Given the description of an element on the screen output the (x, y) to click on. 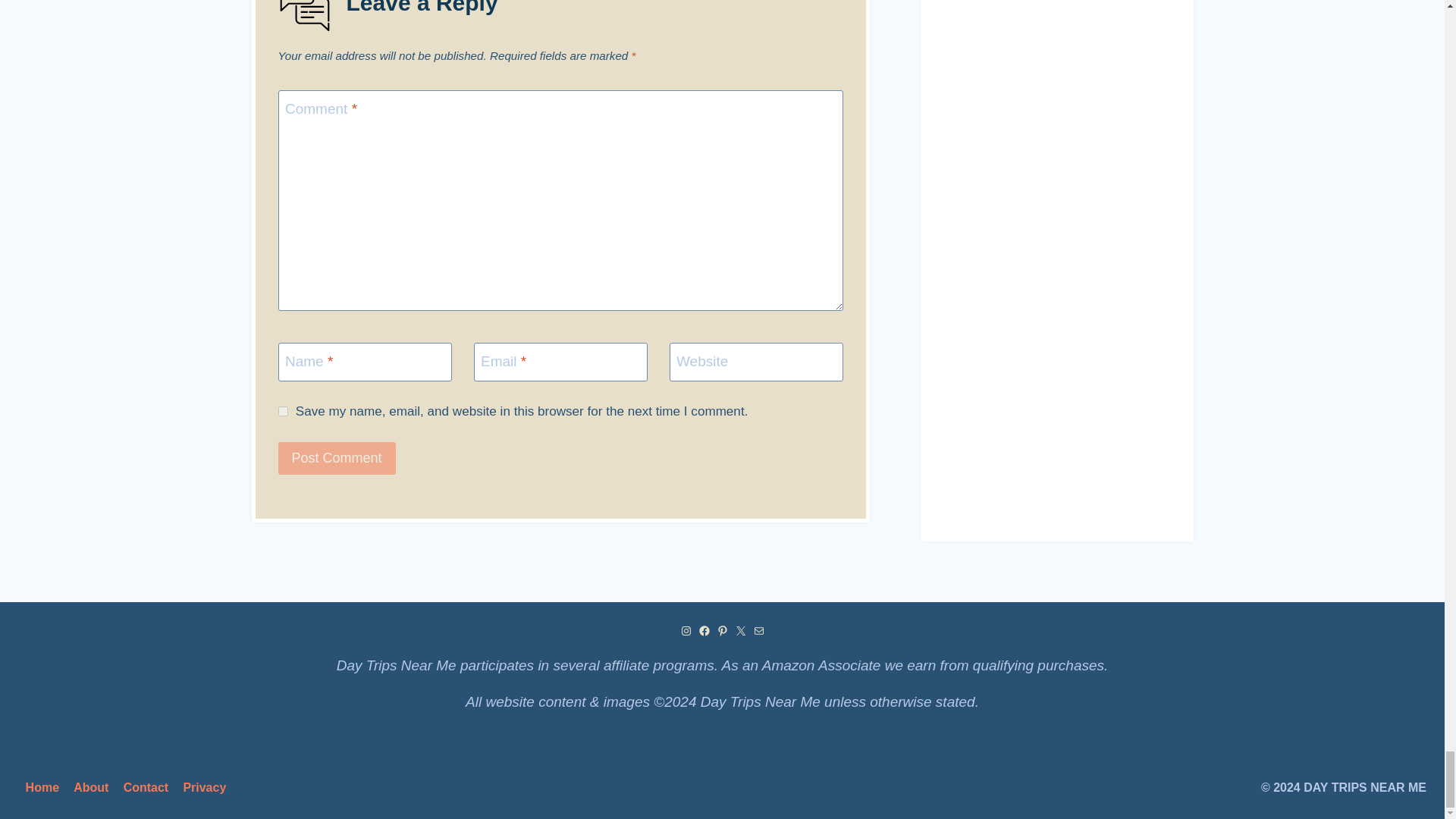
Post Comment (336, 457)
yes (282, 411)
